Given the description of an element on the screen output the (x, y) to click on. 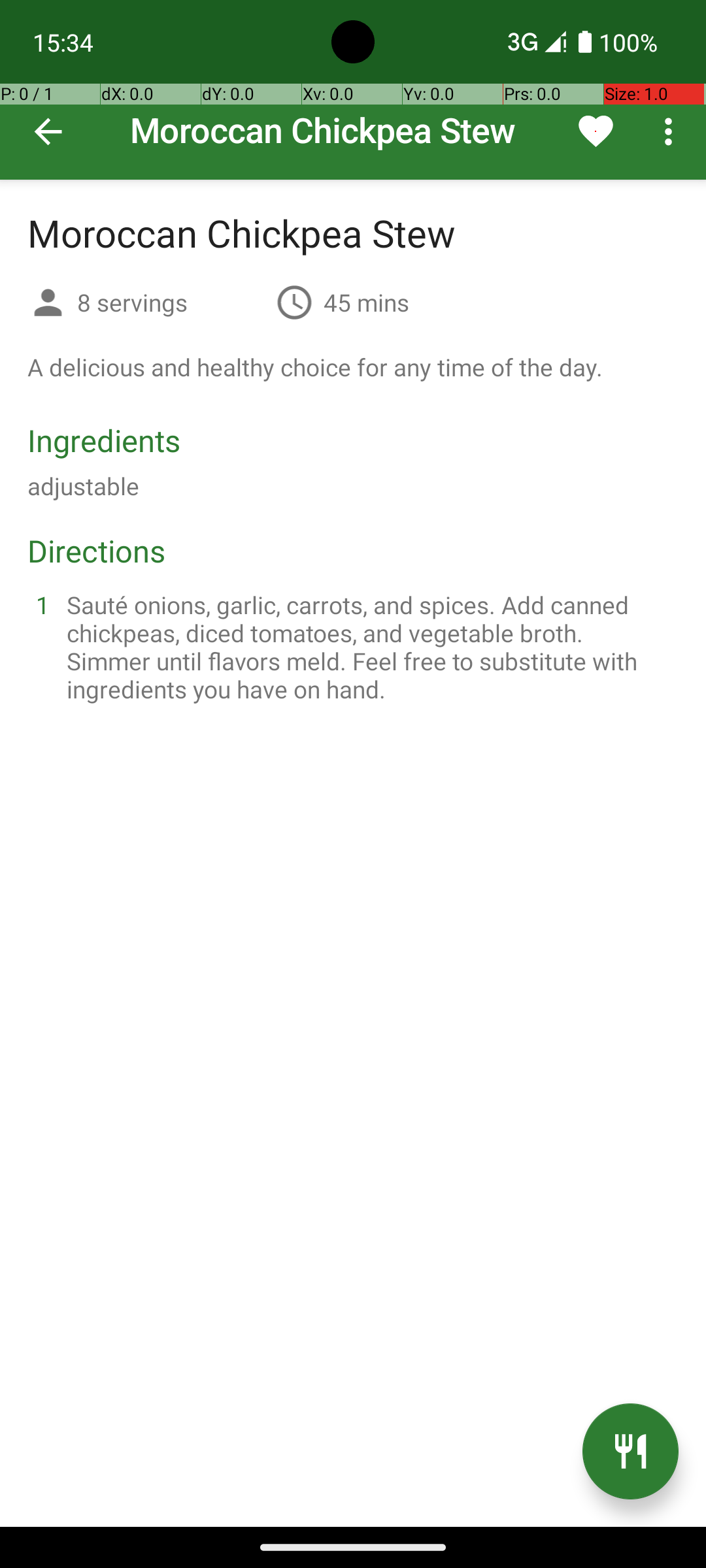
Moroccan Chickpea Stew Element type: android.widget.FrameLayout (353, 89)
Cook Element type: android.widget.ImageButton (630, 1451)
Remove from favorites Element type: android.widget.Button (595, 131)
Servings Element type: android.widget.ImageView (47, 303)
8 servings Element type: android.widget.TextView (170, 301)
45 mins Element type: android.widget.TextView (366, 301)
A delicious and healthy choice for any time of the day. Element type: android.widget.TextView (314, 366)
adjustable Element type: android.widget.TextView (83, 485)
Directions Element type: android.widget.TextView (96, 550)
Sauté onions, garlic, carrots, and spices. Add canned chickpeas, diced tomatoes, and vegetable broth. Simmer until flavors meld. Feel free to substitute with ingredients you have on hand. Element type: android.widget.TextView (368, 646)
